Given the description of an element on the screen output the (x, y) to click on. 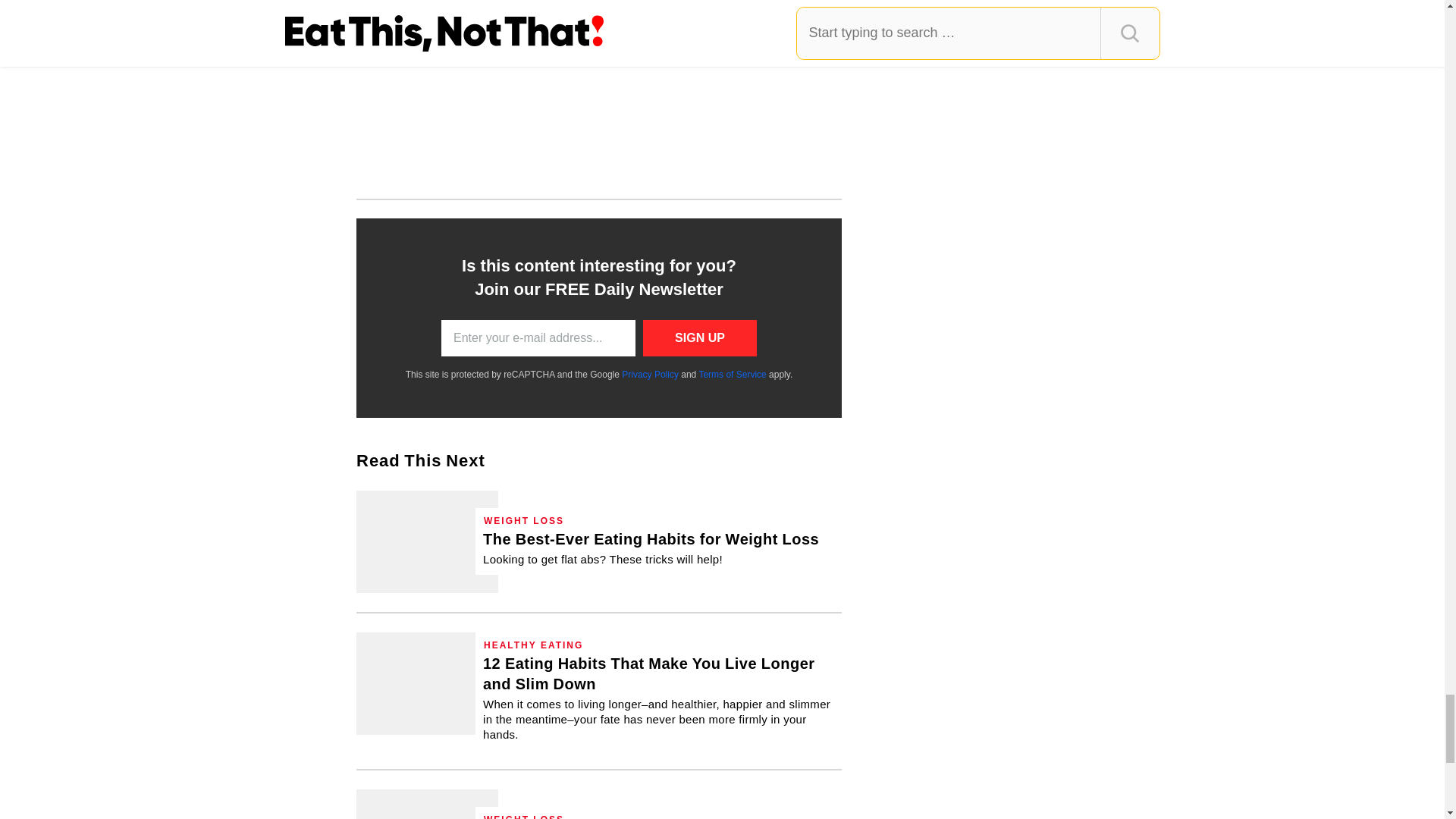
12 Eating Habits That Make You Live Longer and Slim Down (658, 697)
25 Worst Habits That Will Expand Your Waistline (426, 804)
The Best-Ever Eating Habits for Weight Loss (426, 541)
The Best-Ever Eating Habits for Weight Loss (650, 548)
12 Eating Habits That Make You Live Longer and Slim Down (426, 683)
